Given the description of an element on the screen output the (x, y) to click on. 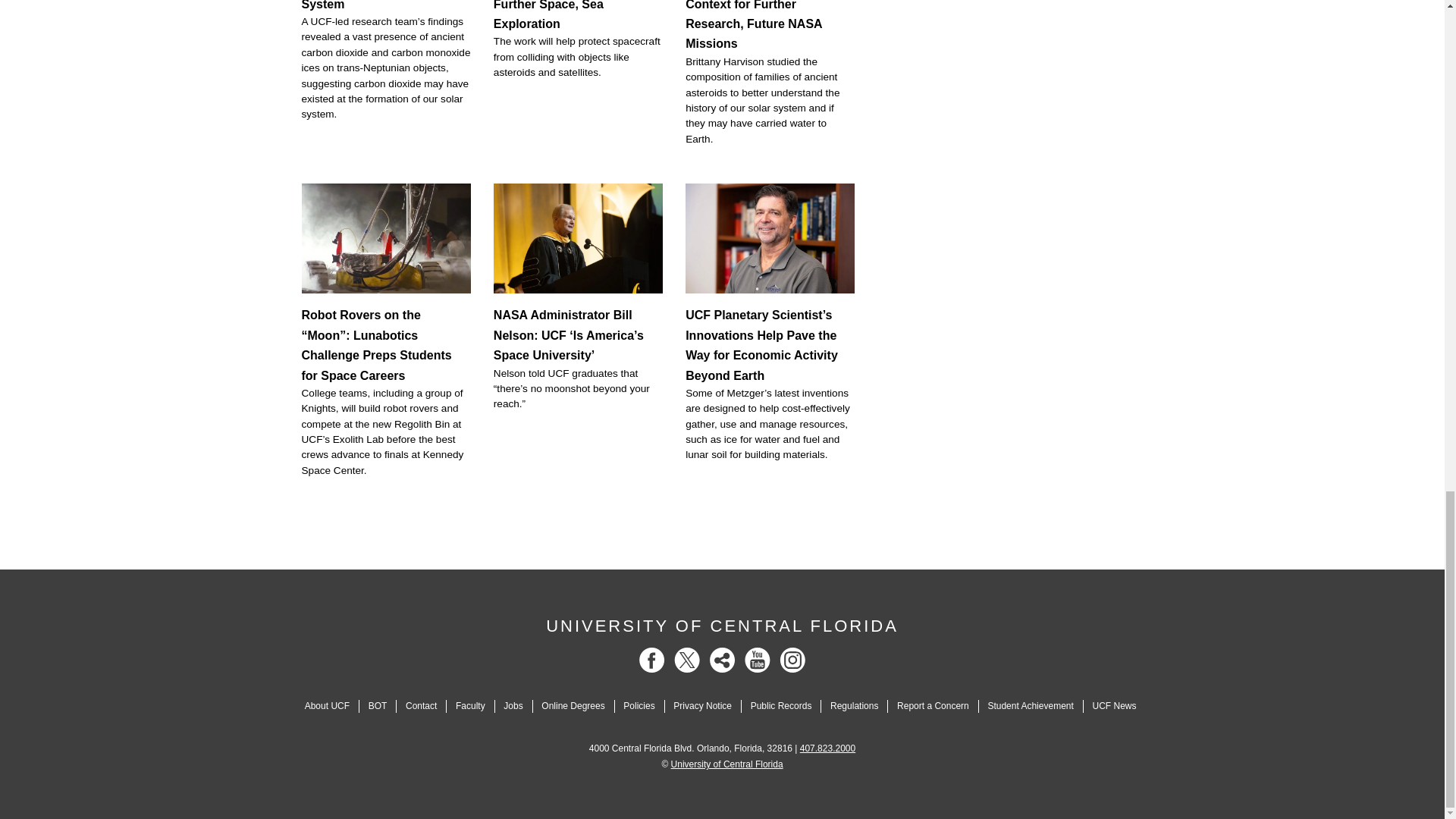
UNIVERSITY OF CENTRAL FLORIDA (722, 626)
UCF Board of Trustees (377, 706)
